Given the description of an element on the screen output the (x, y) to click on. 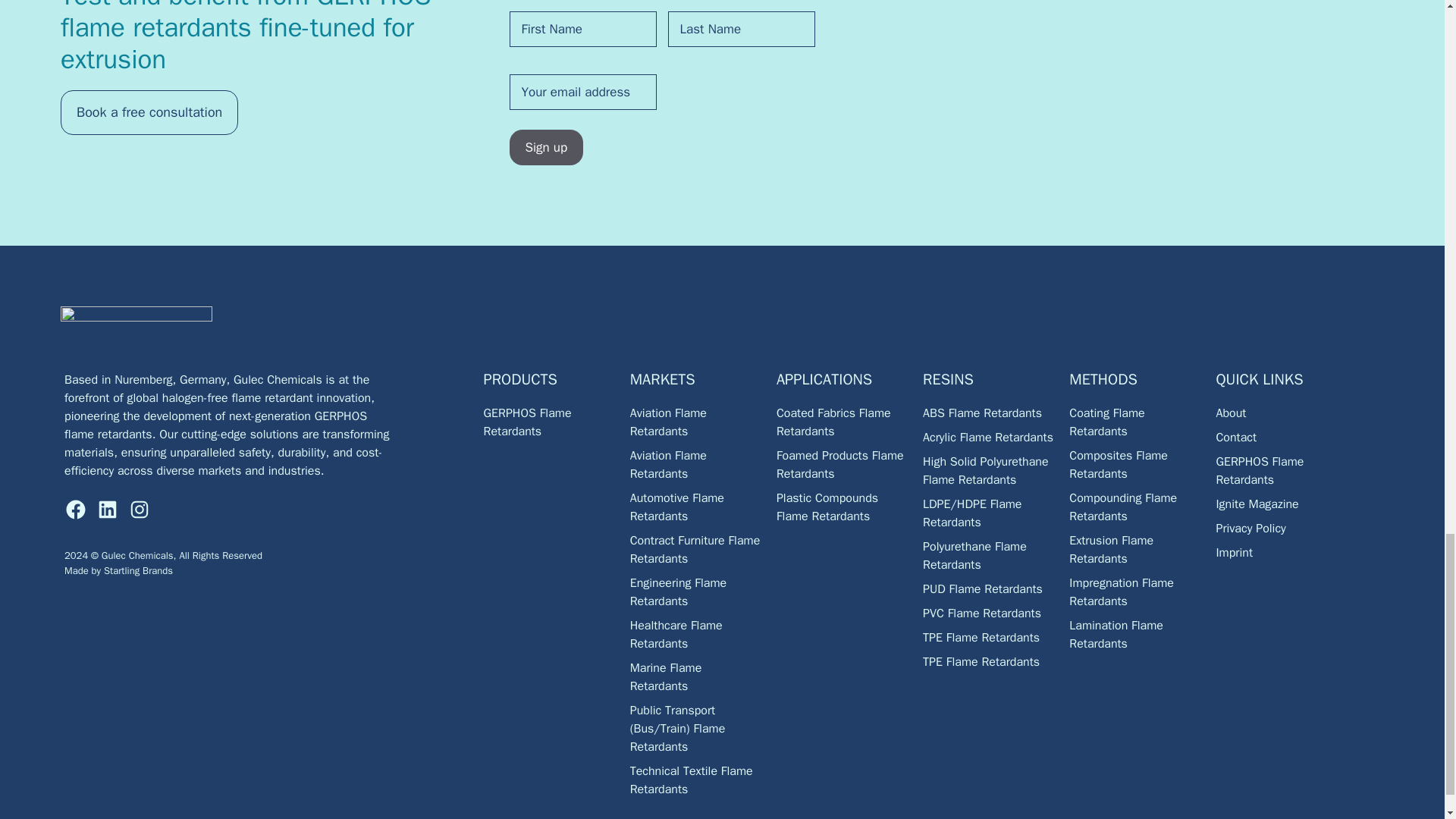
Sign up (546, 147)
